Given the description of an element on the screen output the (x, y) to click on. 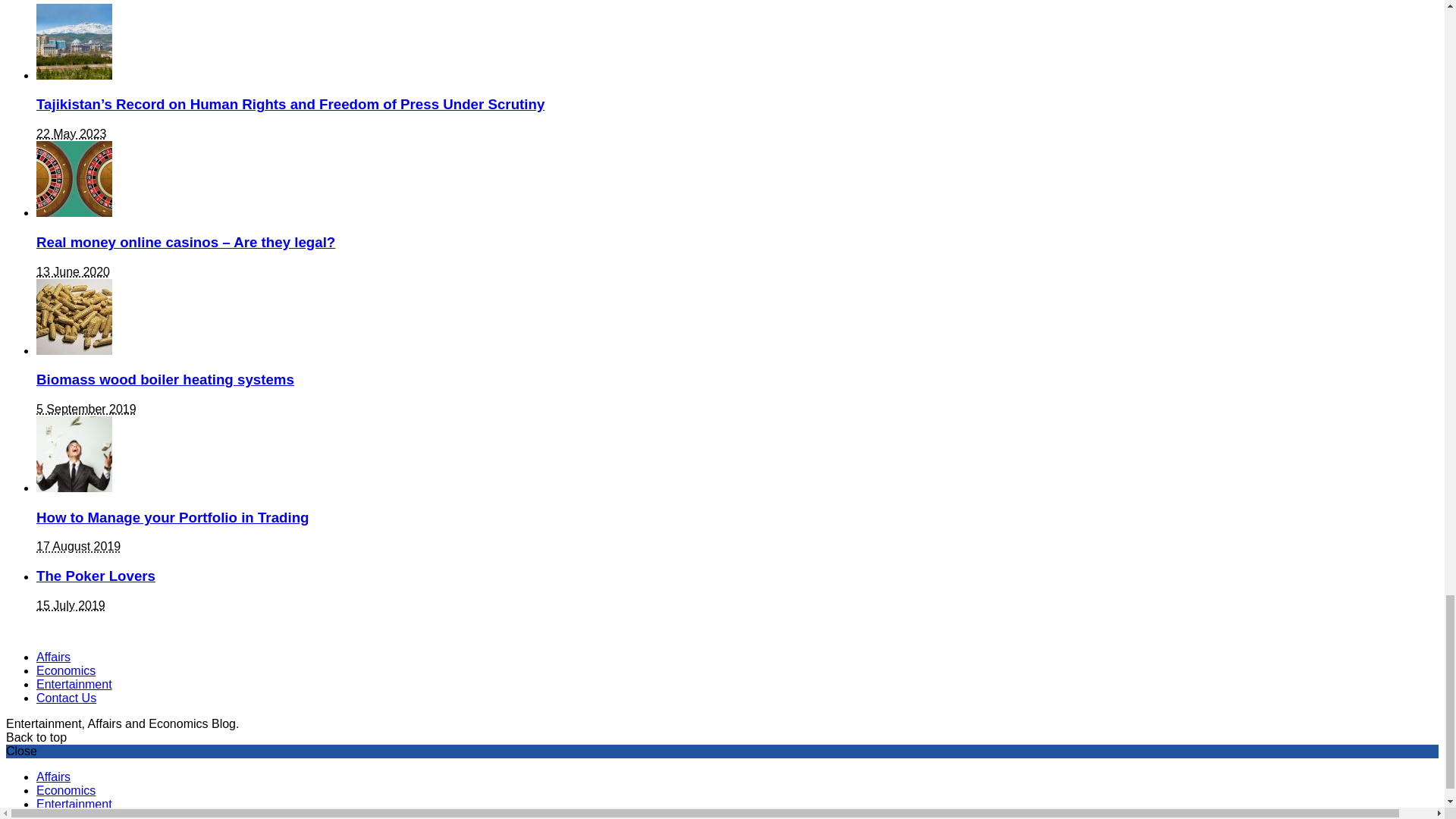
22 May 2023 (71, 133)
13 June 2020 (73, 271)
